Given the description of an element on the screen output the (x, y) to click on. 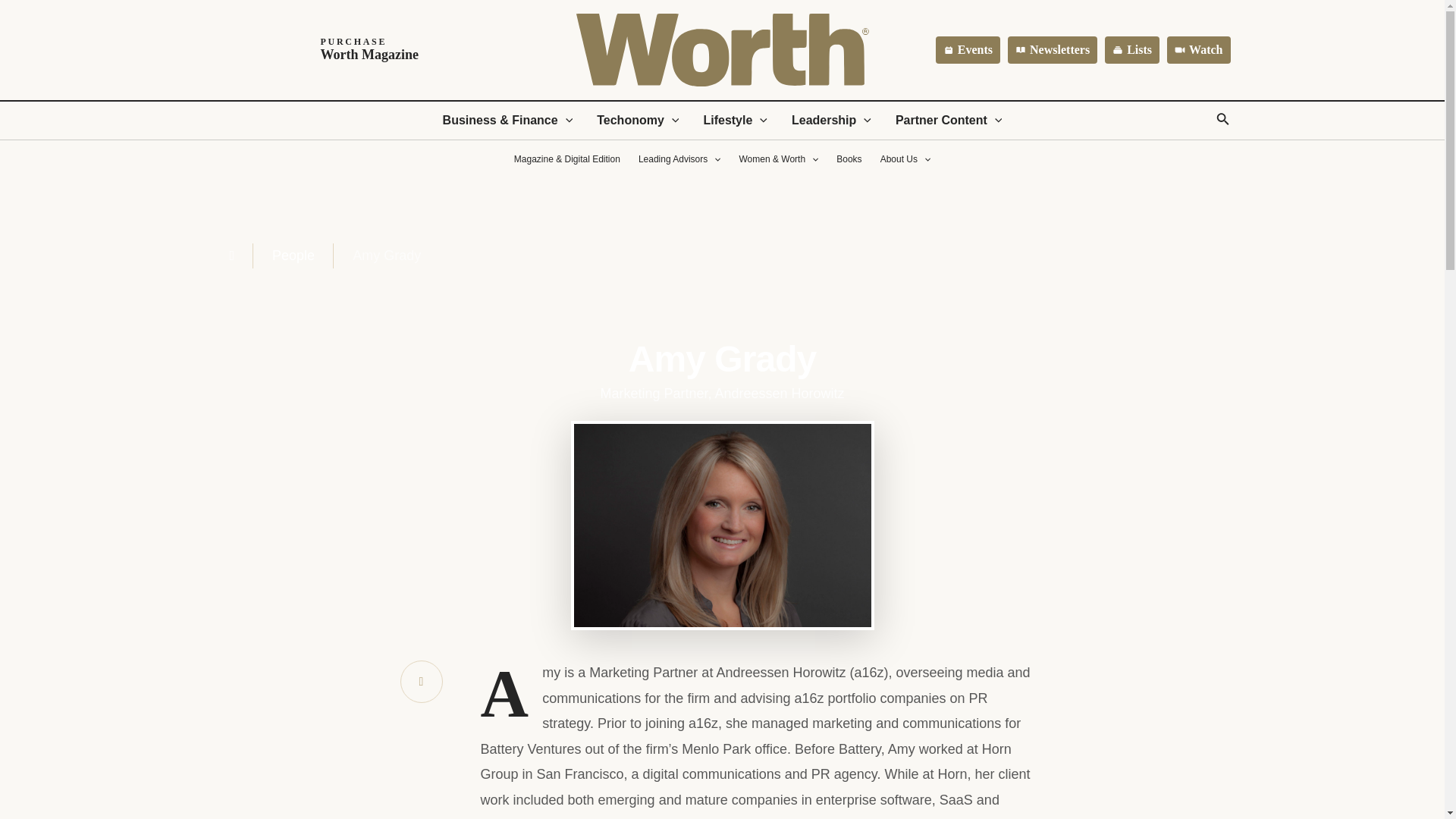
Leadership (830, 120)
Lists (1131, 49)
Techonomy (637, 120)
Partner Content (948, 120)
Newsletters (1052, 49)
Leading Advisors (679, 159)
Events (968, 49)
Lifestyle (330, 49)
Watch (734, 120)
